Given the description of an element on the screen output the (x, y) to click on. 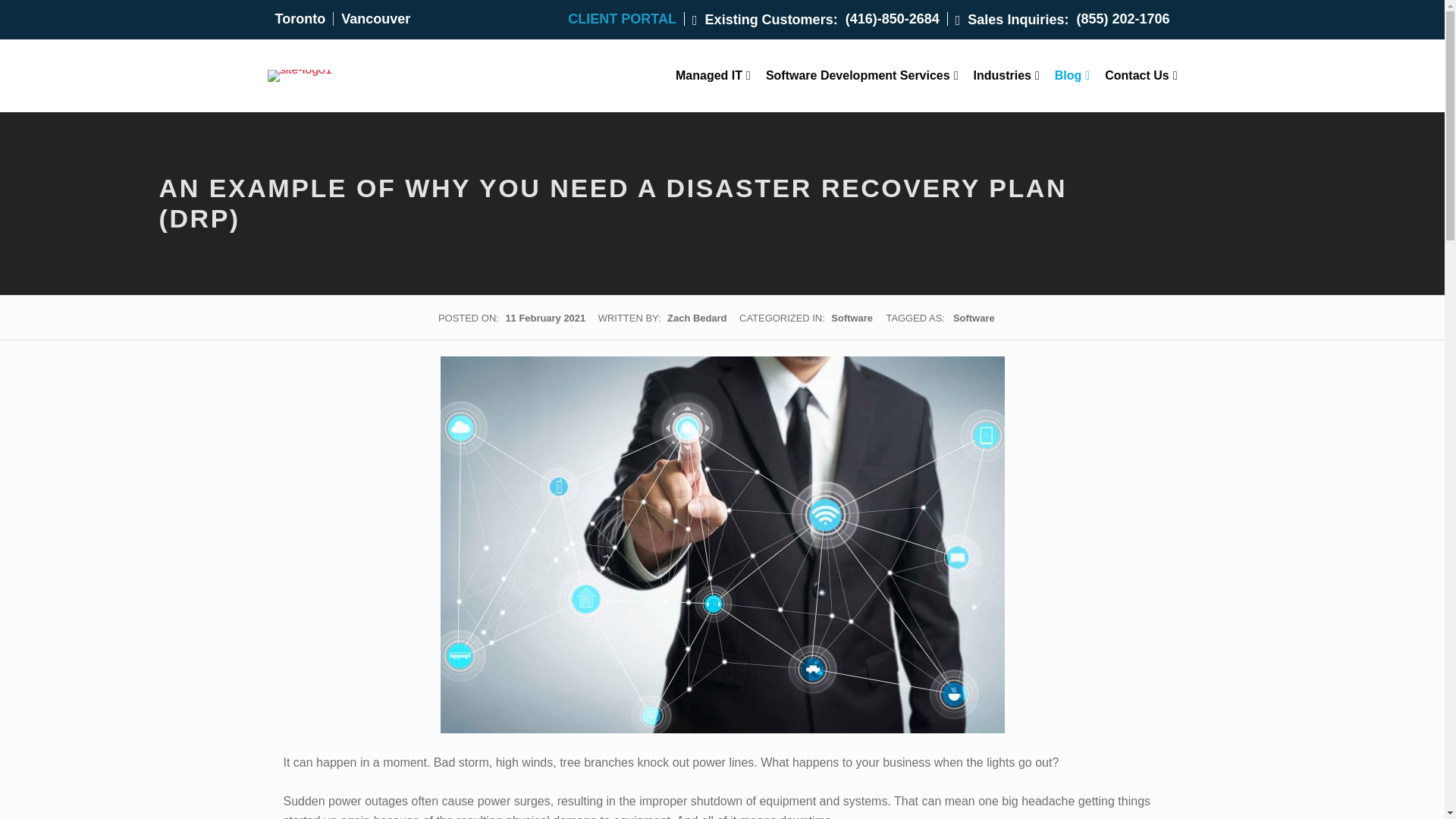
Managed IT (713, 75)
Toronto (299, 18)
Existing Customers: (765, 19)
site-logo1 (298, 75)
CLIENT PORTAL (625, 18)
Vancouver (375, 18)
Software Development Services (861, 75)
Sales Inquiries: (1011, 19)
Posted on: 11 February 2021 (546, 317)
